Given the description of an element on the screen output the (x, y) to click on. 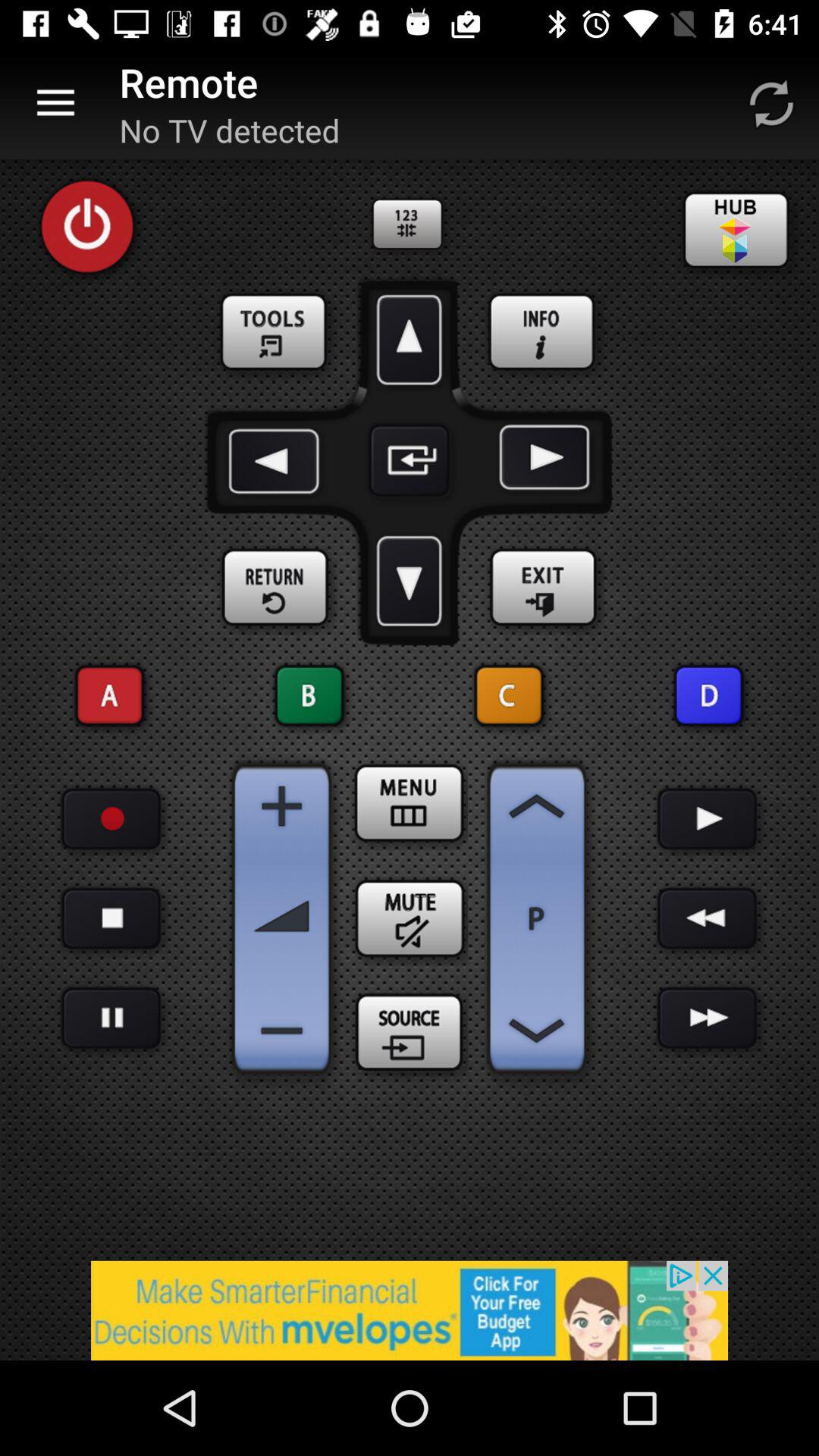
menu button (409, 803)
